Given the description of an element on the screen output the (x, y) to click on. 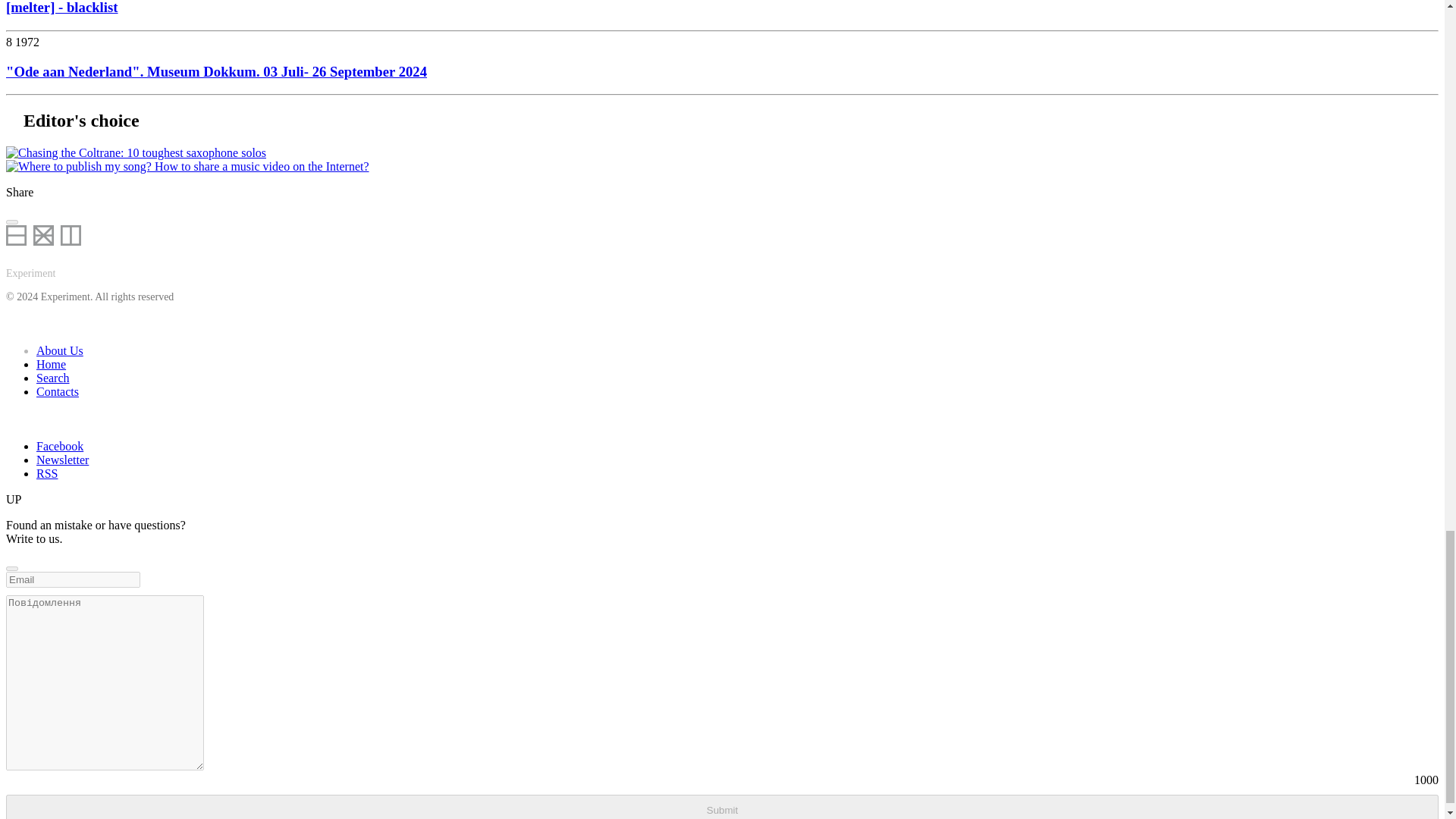
Chasing the Coltrane: 10 toughest saxophone solos (135, 152)
